Given the description of an element on the screen output the (x, y) to click on. 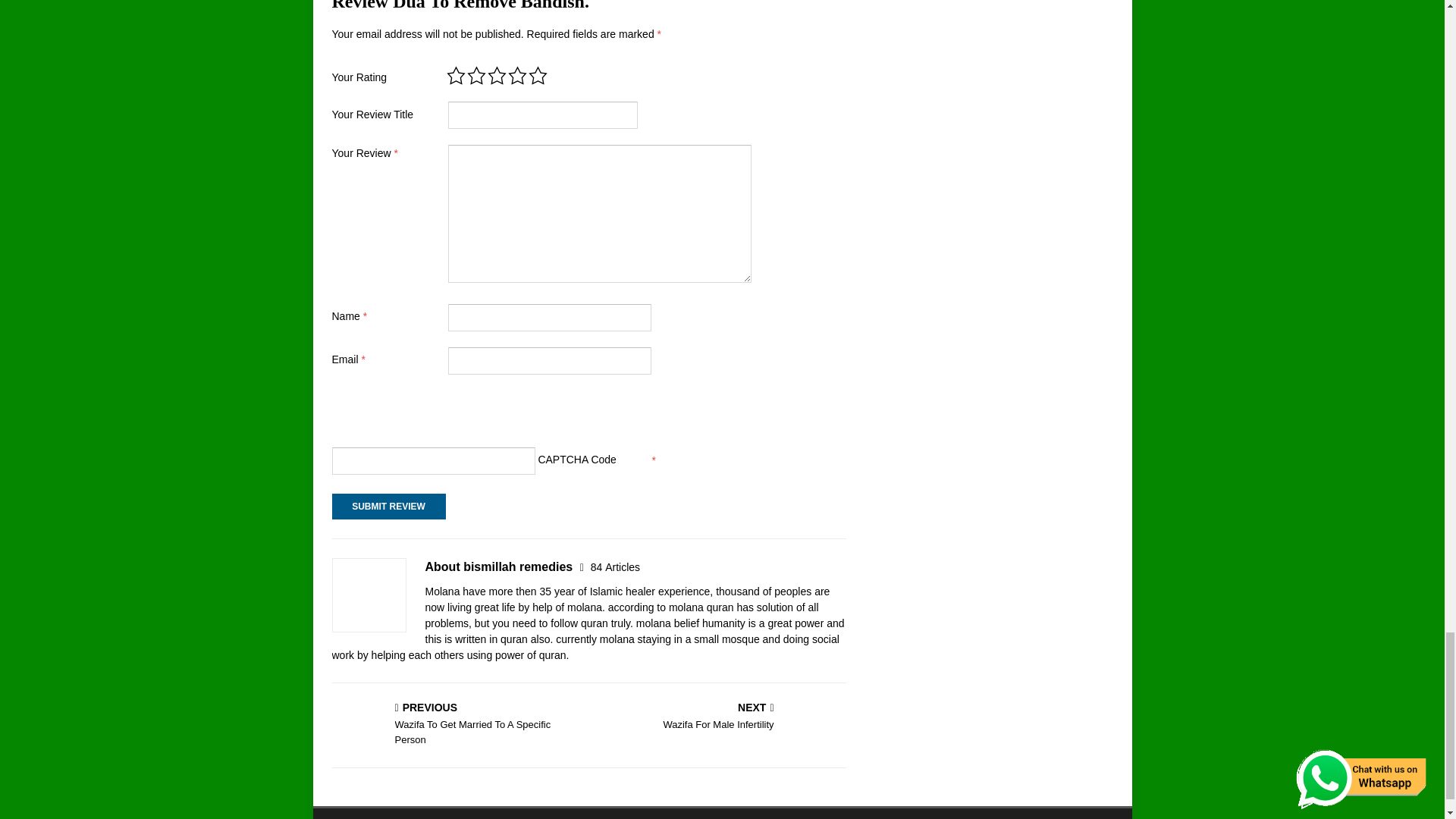
Submit Review (388, 506)
84 Articles (615, 567)
More articles written by bismillah remedies' (615, 567)
CAPTCHA (457, 725)
Submit Review (383, 415)
Refresh (388, 506)
